Given the description of an element on the screen output the (x, y) to click on. 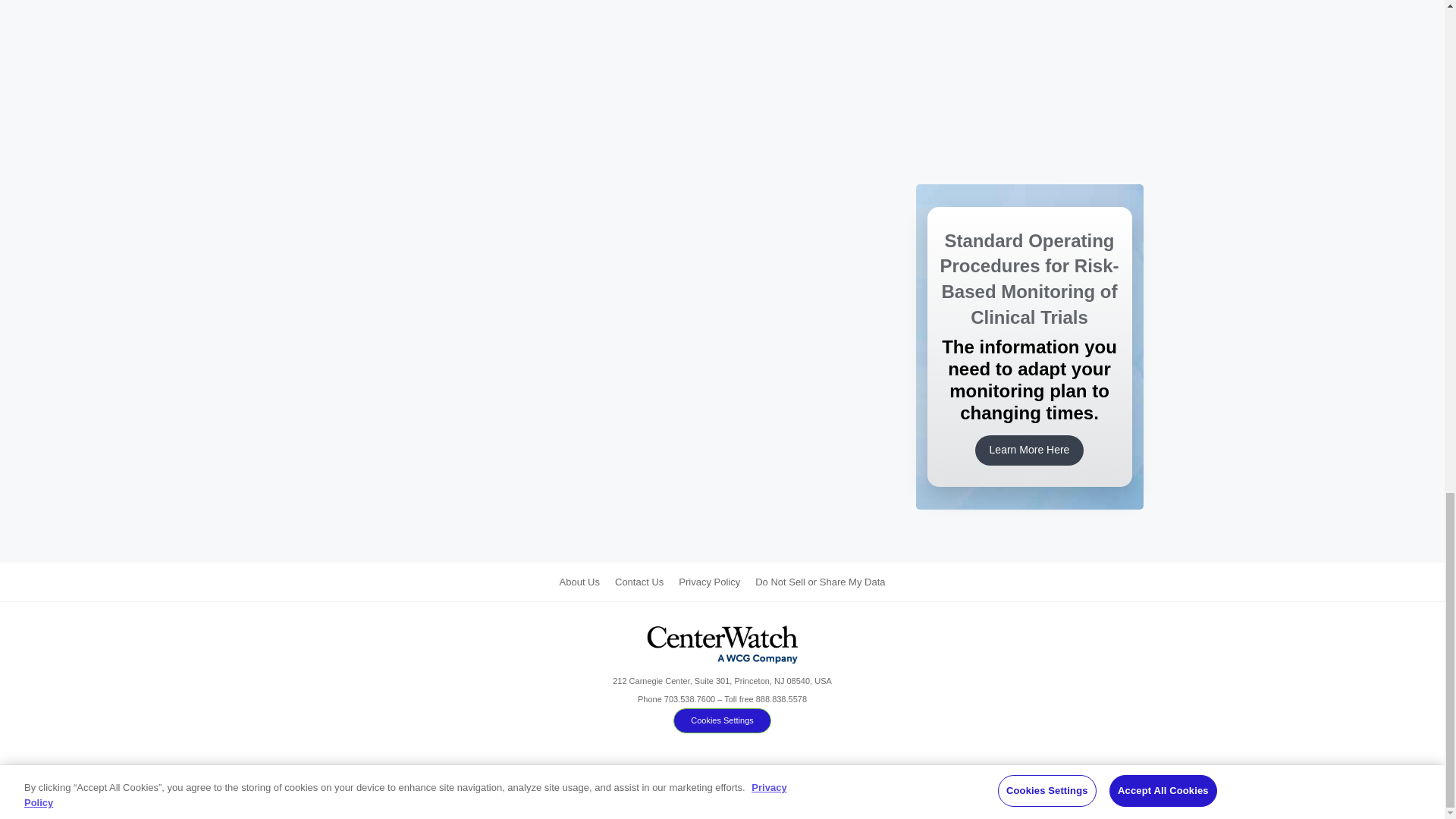
3rd party ad content (1028, 31)
3rd party ad content (1028, 122)
